Given the description of an element on the screen output the (x, y) to click on. 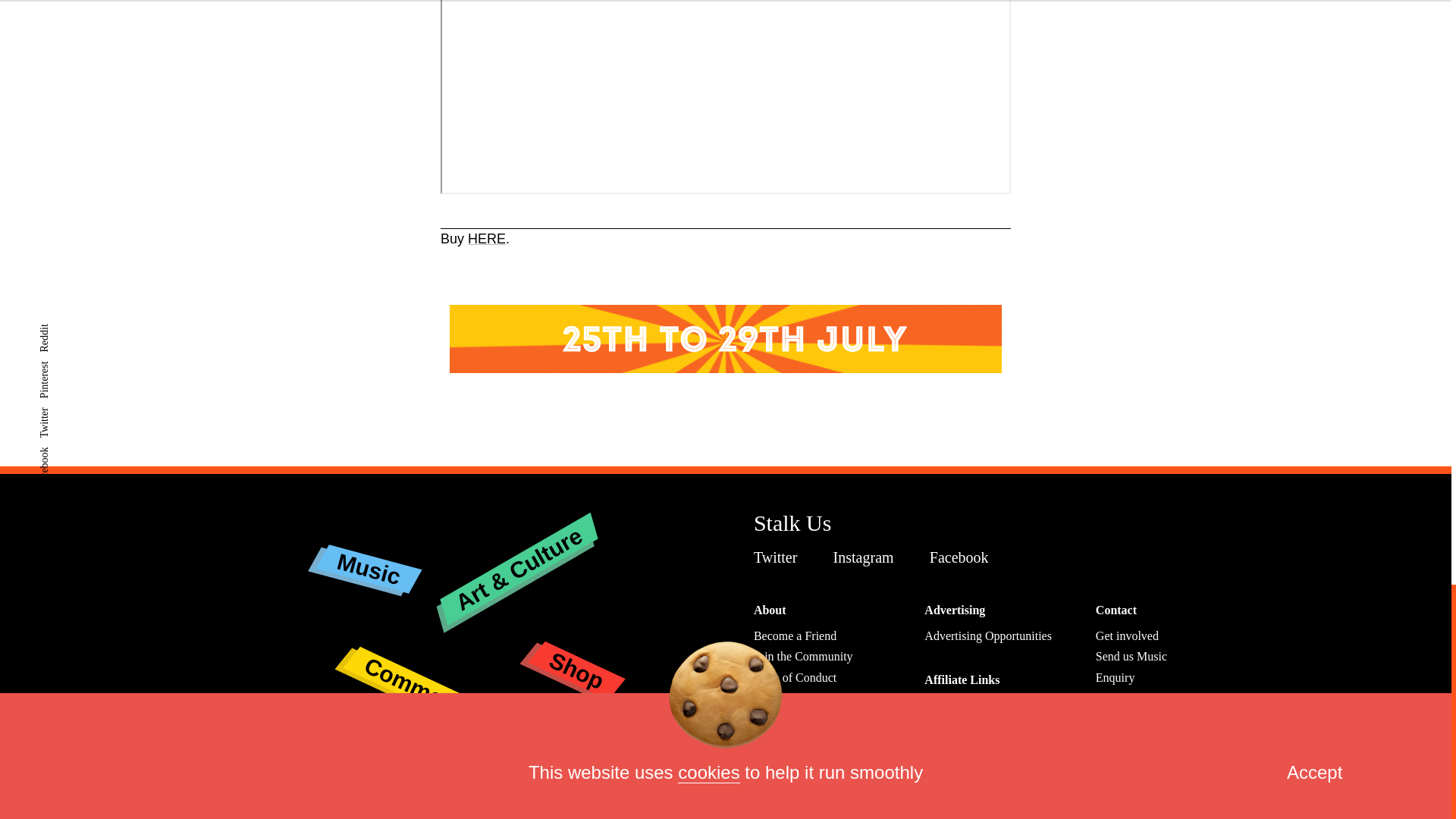
Twitter (779, 557)
Get involved (1127, 635)
Facebook (962, 557)
HERE (486, 238)
Contact (1116, 609)
Commentary (431, 658)
Shop (575, 652)
Music (366, 557)
Instagram (866, 557)
Enquiry (1115, 676)
Send us Music (1131, 656)
About (770, 609)
